Given the description of an element on the screen output the (x, y) to click on. 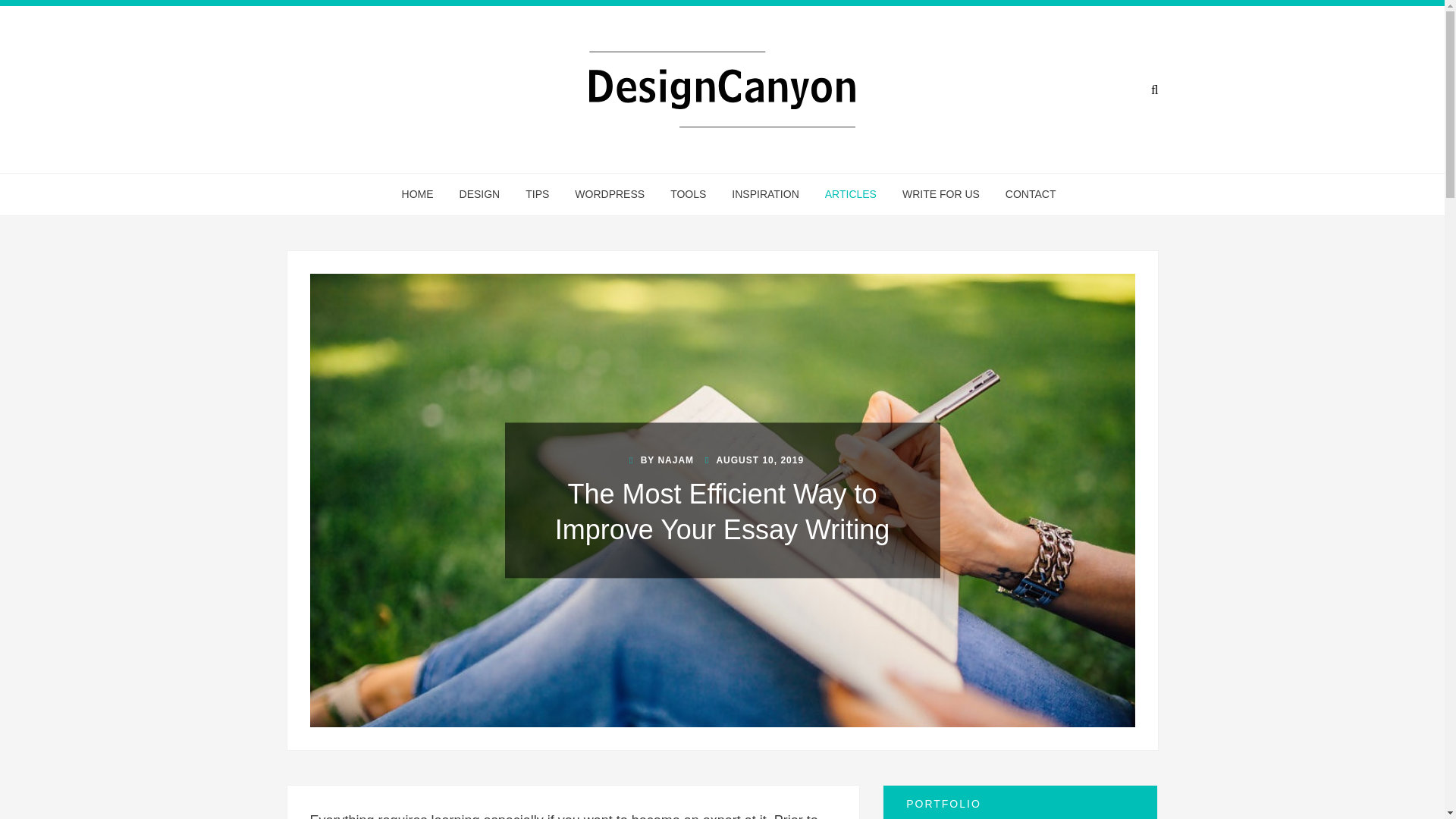
WORDPRESS (610, 194)
DESIGN (479, 194)
CONTACT (1024, 194)
ARTICLES (850, 194)
TIPS (537, 194)
DesignCanyon (599, 143)
WRITE FOR US (940, 194)
NAJAM (676, 460)
INSPIRATION (764, 194)
TOOLS (688, 194)
AUGUST 10, 2019 (753, 460)
HOME (417, 194)
DesignCanyon (599, 143)
